Given the description of an element on the screen output the (x, y) to click on. 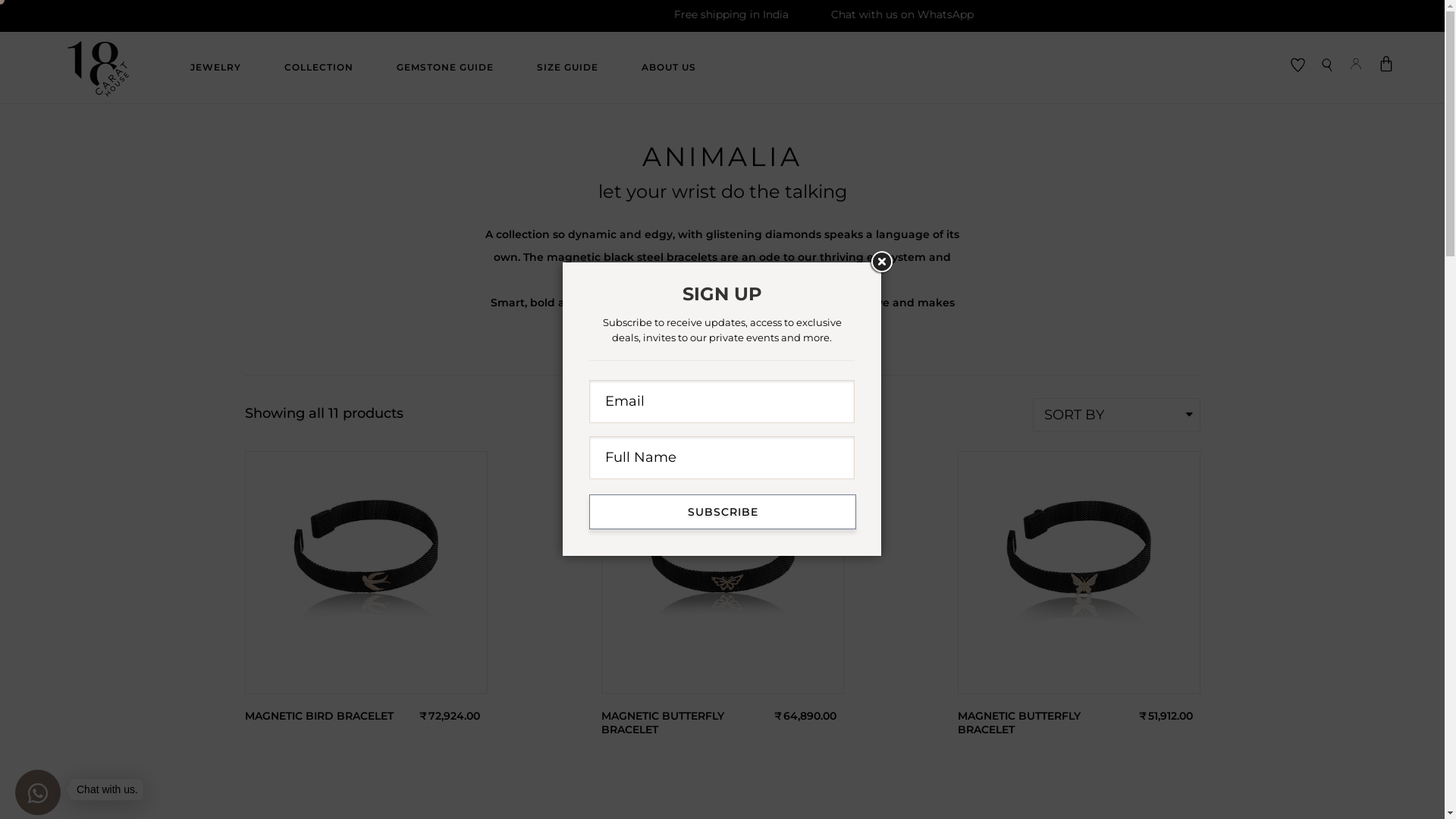
Chat with us. Element type: text (37, 792)
SUBSCRIBE Element type: text (722, 511)
JEWELRY Element type: text (215, 67)
GEMSTONE GUIDE Element type: text (444, 67)
COLLECTION Element type: text (318, 67)
SIZE GUIDE Element type: text (567, 67)
ABOUT US Element type: text (668, 67)
